Given the description of an element on the screen output the (x, y) to click on. 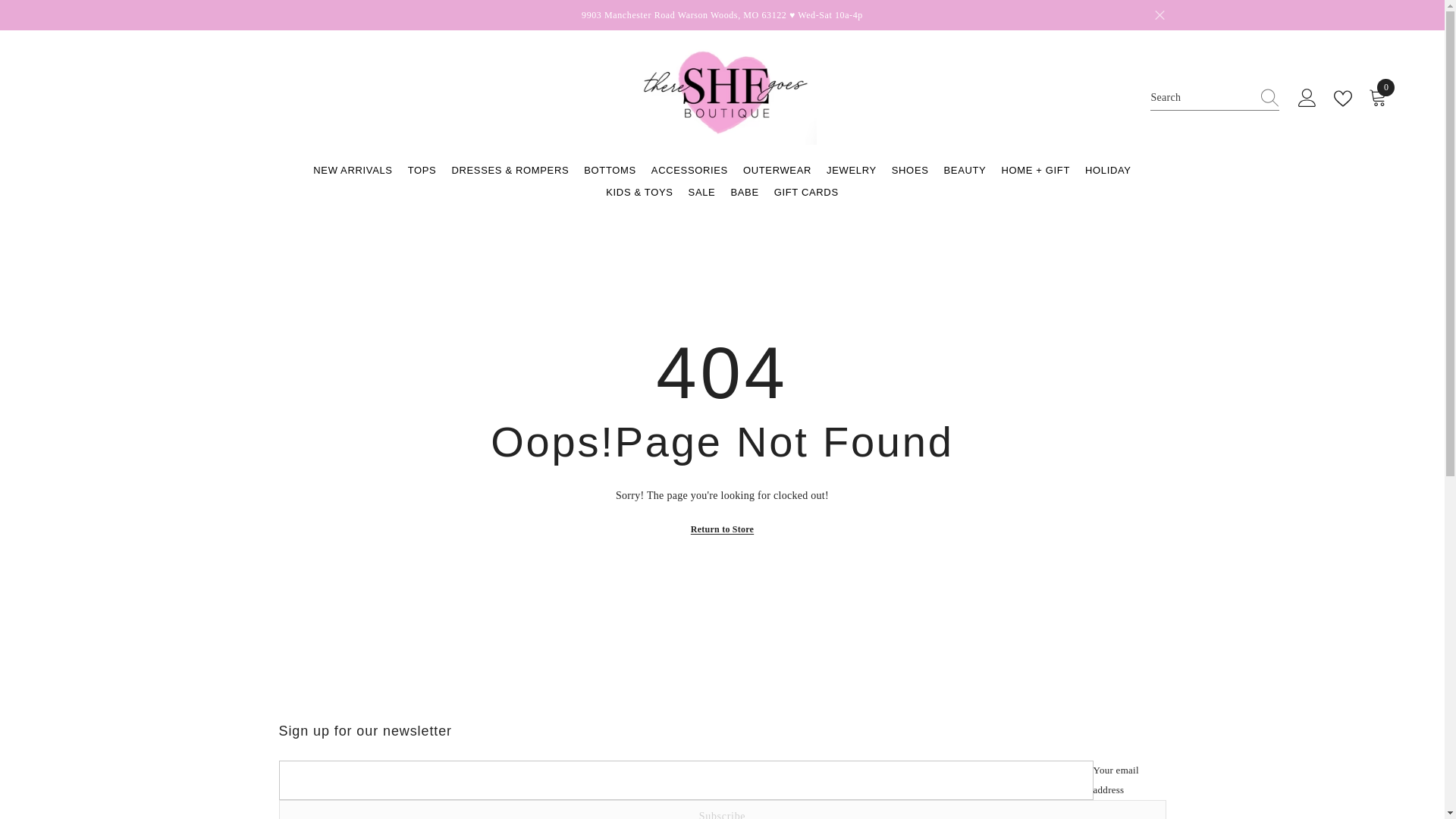
NEW ARRIVALS (351, 178)
Close (1159, 15)
TOPS (1380, 98)
Log in (422, 178)
BOTTOMS (1307, 98)
ACCESSORIES (609, 178)
